Given the description of an element on the screen output the (x, y) to click on. 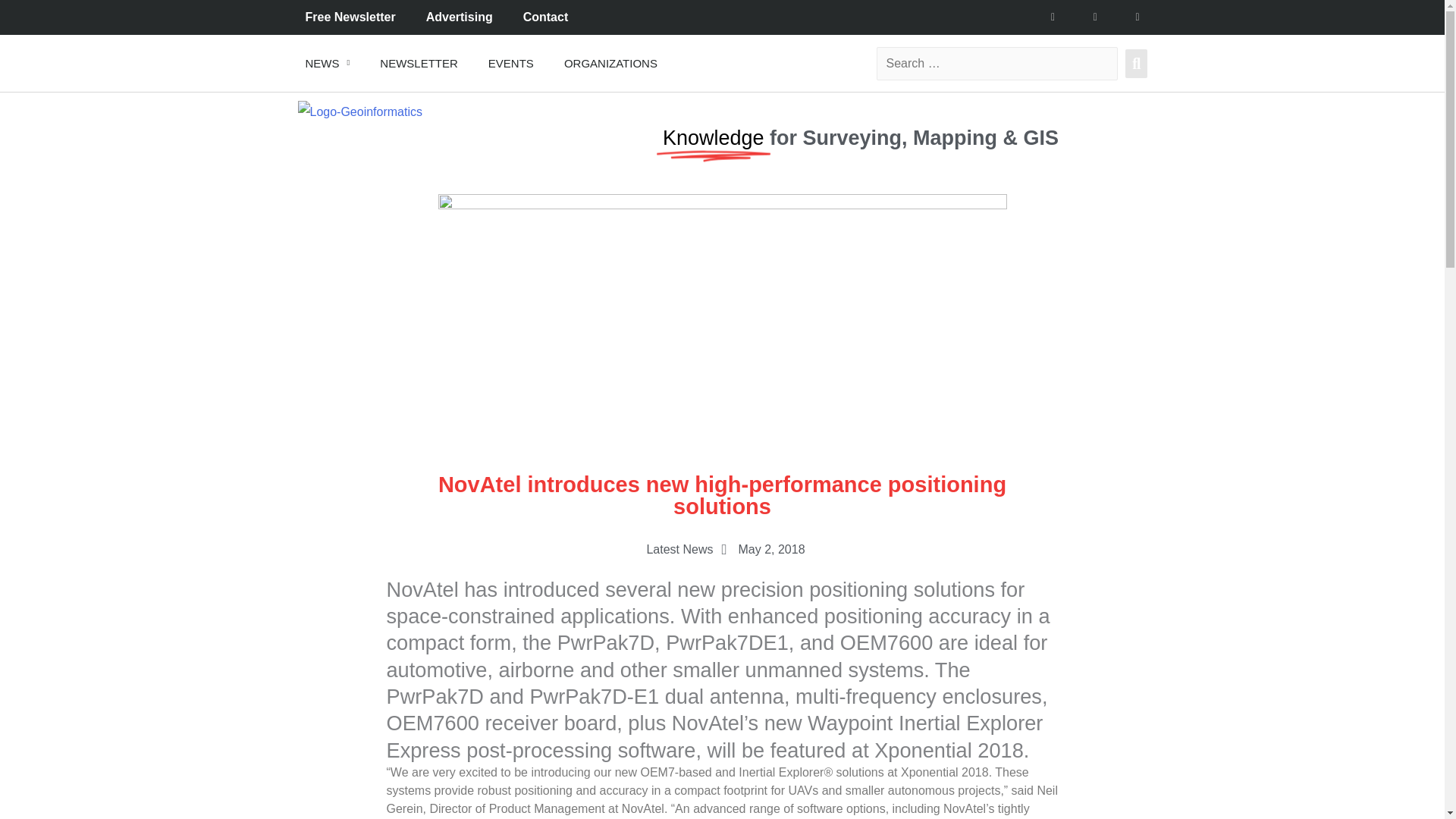
FREE eNewsletter (419, 62)
EVENTS (510, 62)
NEWS (327, 62)
Logo-Geoinformatics (359, 111)
NEWSLETTER (419, 62)
May 2, 2018 (760, 549)
Advertising (459, 17)
News (327, 62)
Latest News (679, 549)
Contact (545, 17)
ORGANIZATIONS (610, 62)
Free Newsletter (349, 17)
